Given the description of an element on the screen output the (x, y) to click on. 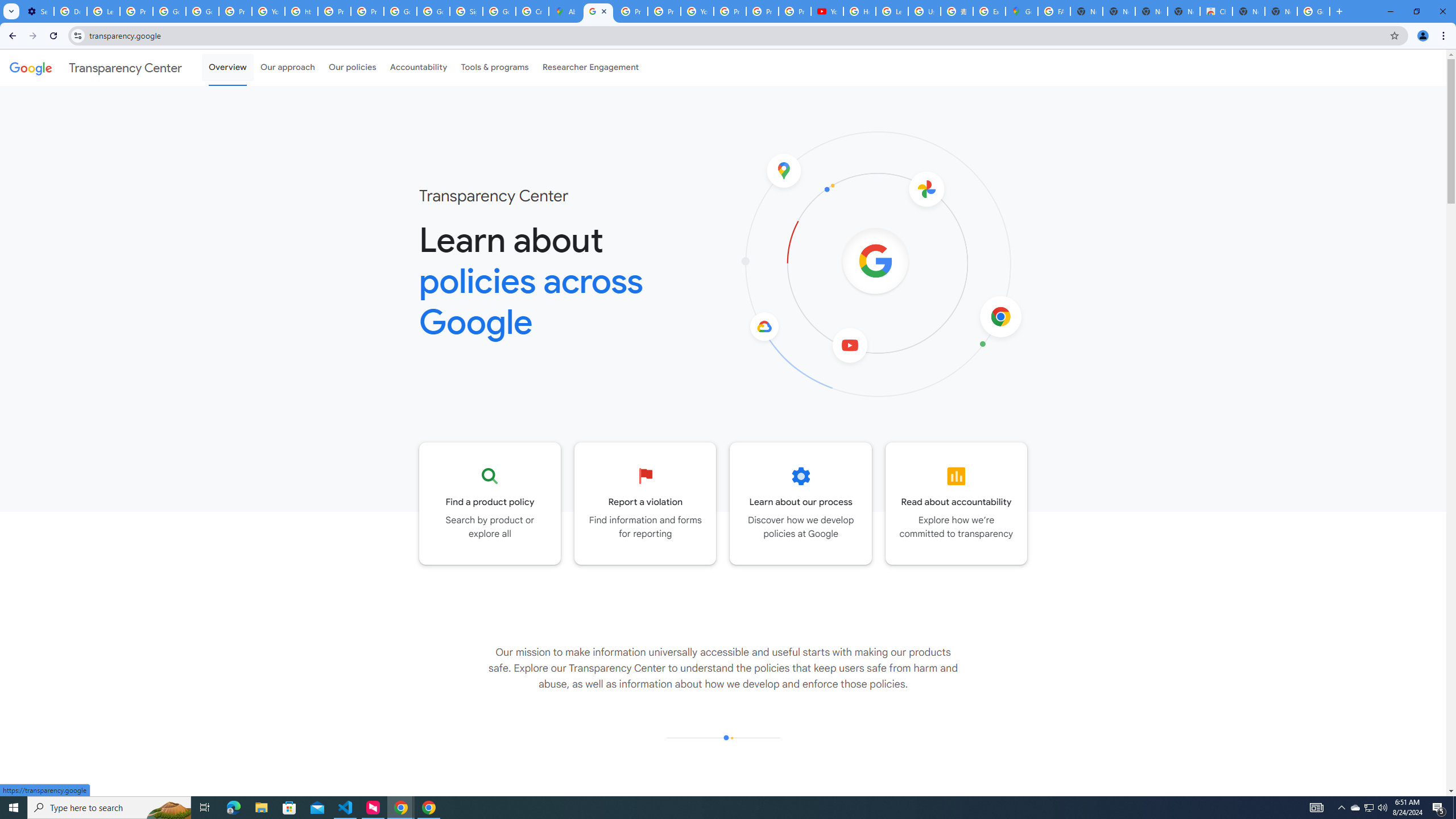
YouTube (268, 11)
Privacy Help Center - Policies Help (631, 11)
YouTube (827, 11)
How Chrome protects your passwords - Google Chrome Help (859, 11)
Settings - On startup (37, 11)
Our approach (287, 67)
Google Account Help (169, 11)
